Given the description of an element on the screen output the (x, y) to click on. 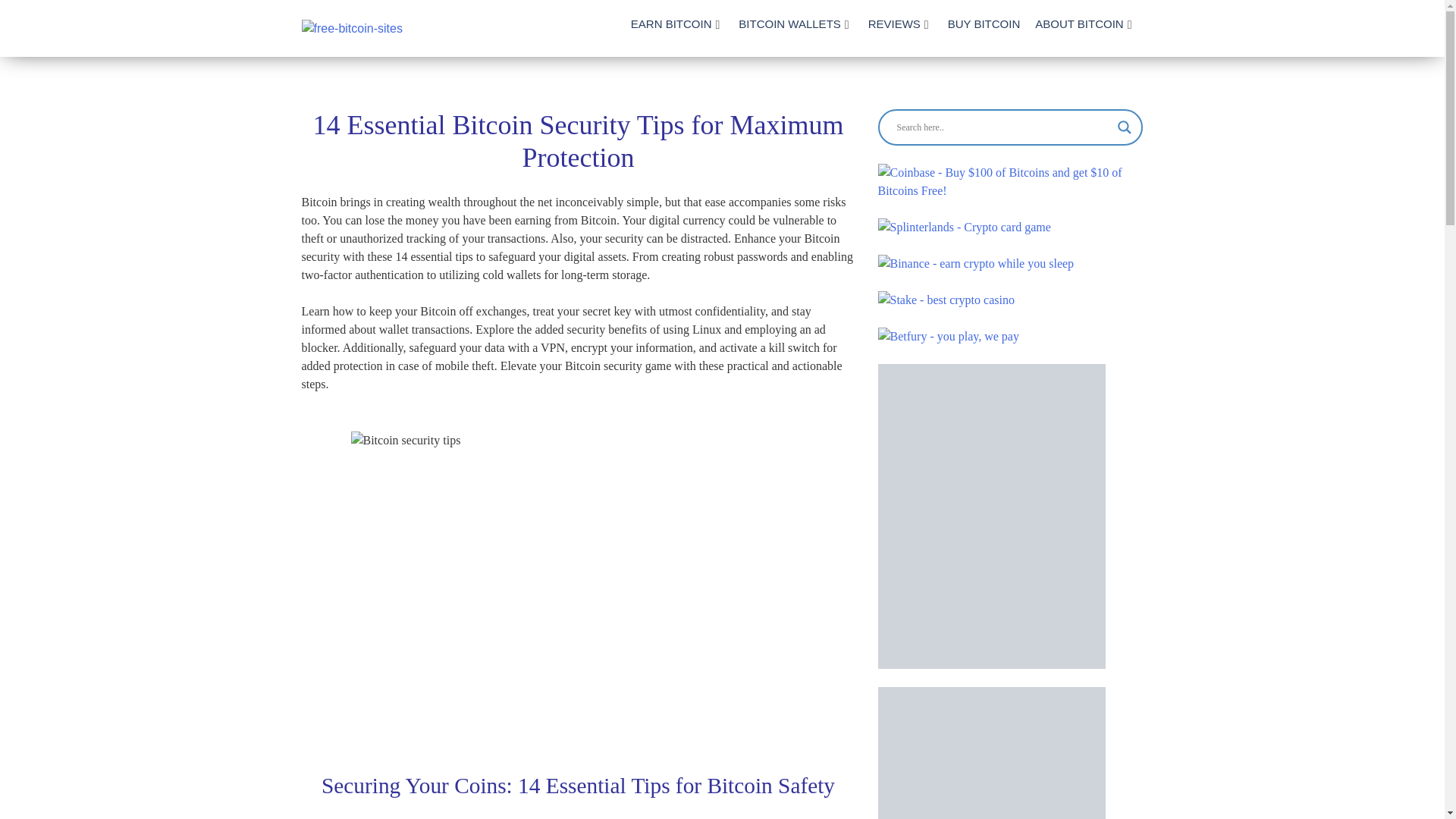
EARN BITCOIN (670, 23)
REVIEWS (893, 23)
E-currency exchanger monitor BestChange.com (991, 753)
BITCOIN WALLETS (789, 23)
